Given the description of an element on the screen output the (x, y) to click on. 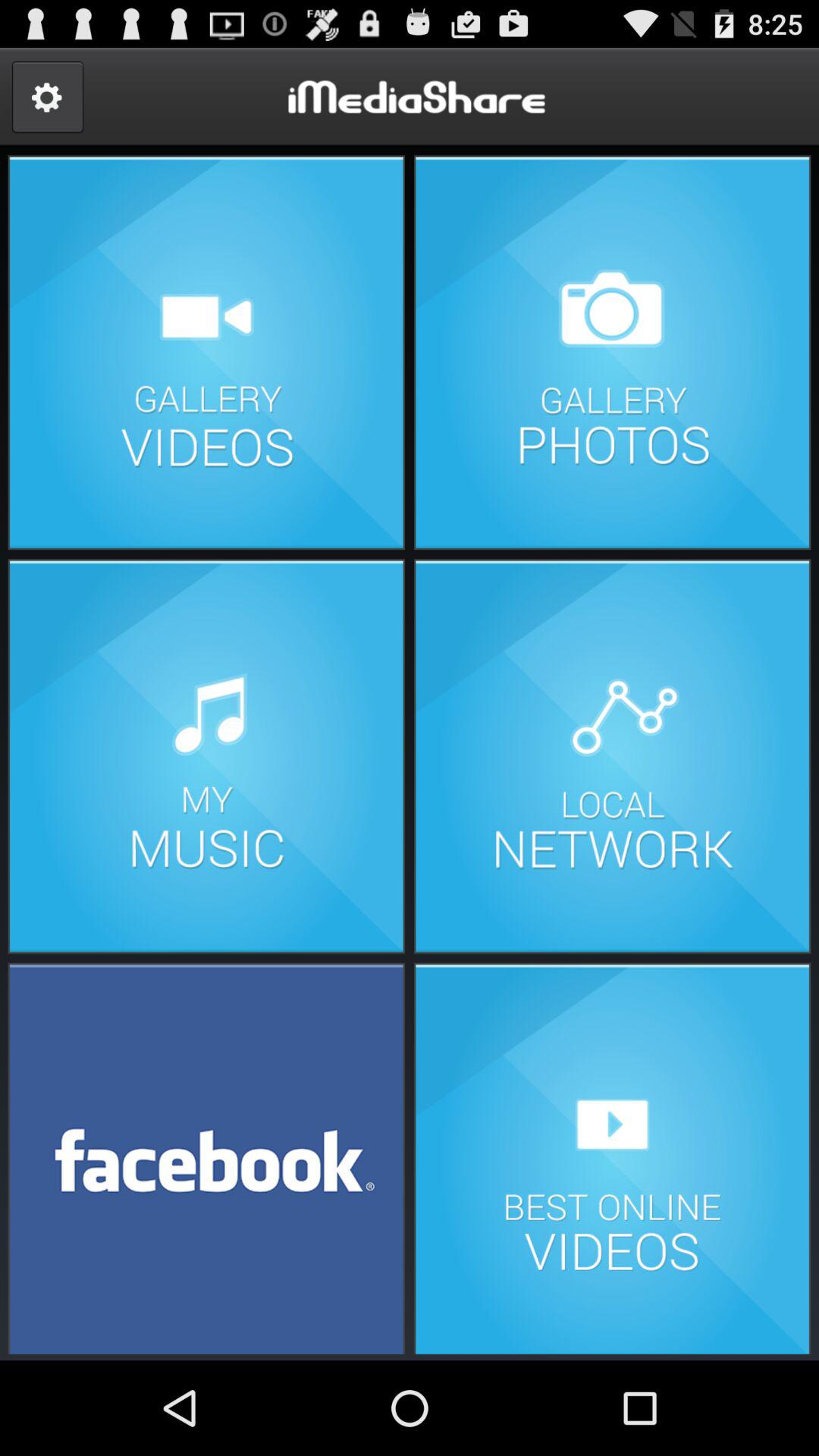
load local network (612, 756)
